Given the description of an element on the screen output the (x, y) to click on. 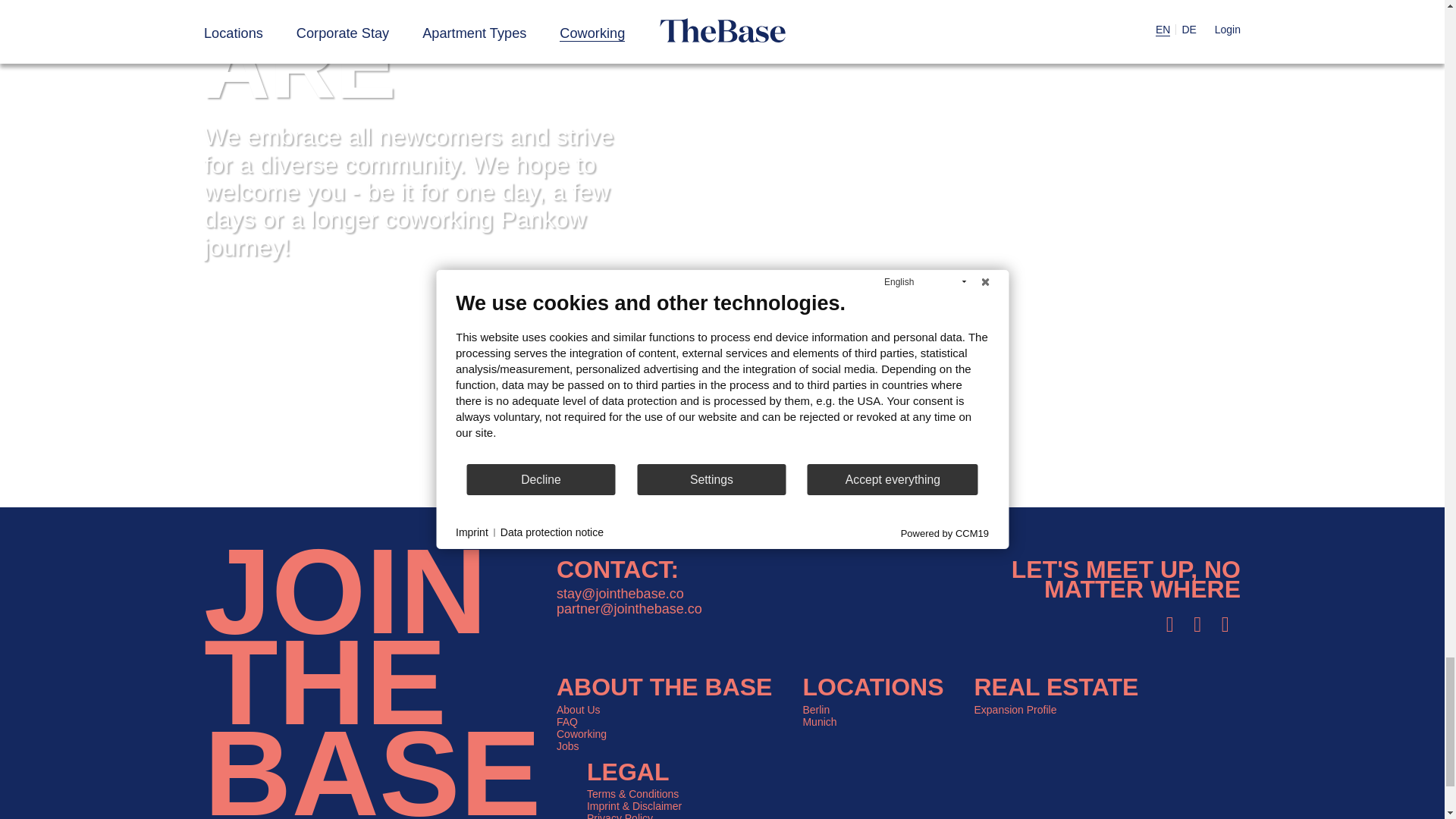
Expansion Profile (1015, 709)
Privacy Policy (619, 815)
Jobs (567, 746)
Coworking (581, 734)
FAQ (567, 721)
Munich (818, 721)
About Us (577, 709)
Berlin (815, 709)
